Given the description of an element on the screen output the (x, y) to click on. 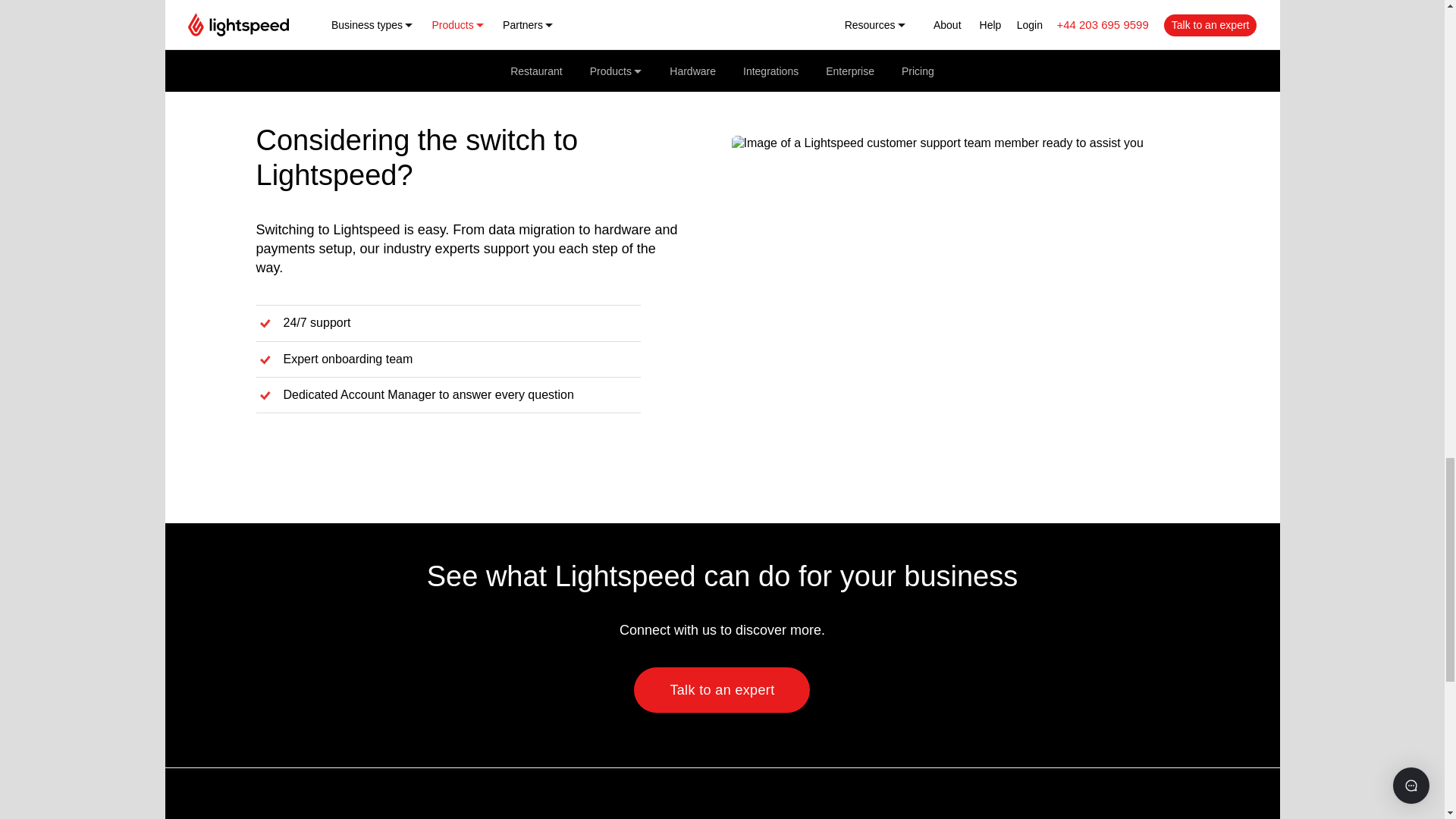
Talk to an expert (721, 689)
